Given the description of an element on the screen output the (x, y) to click on. 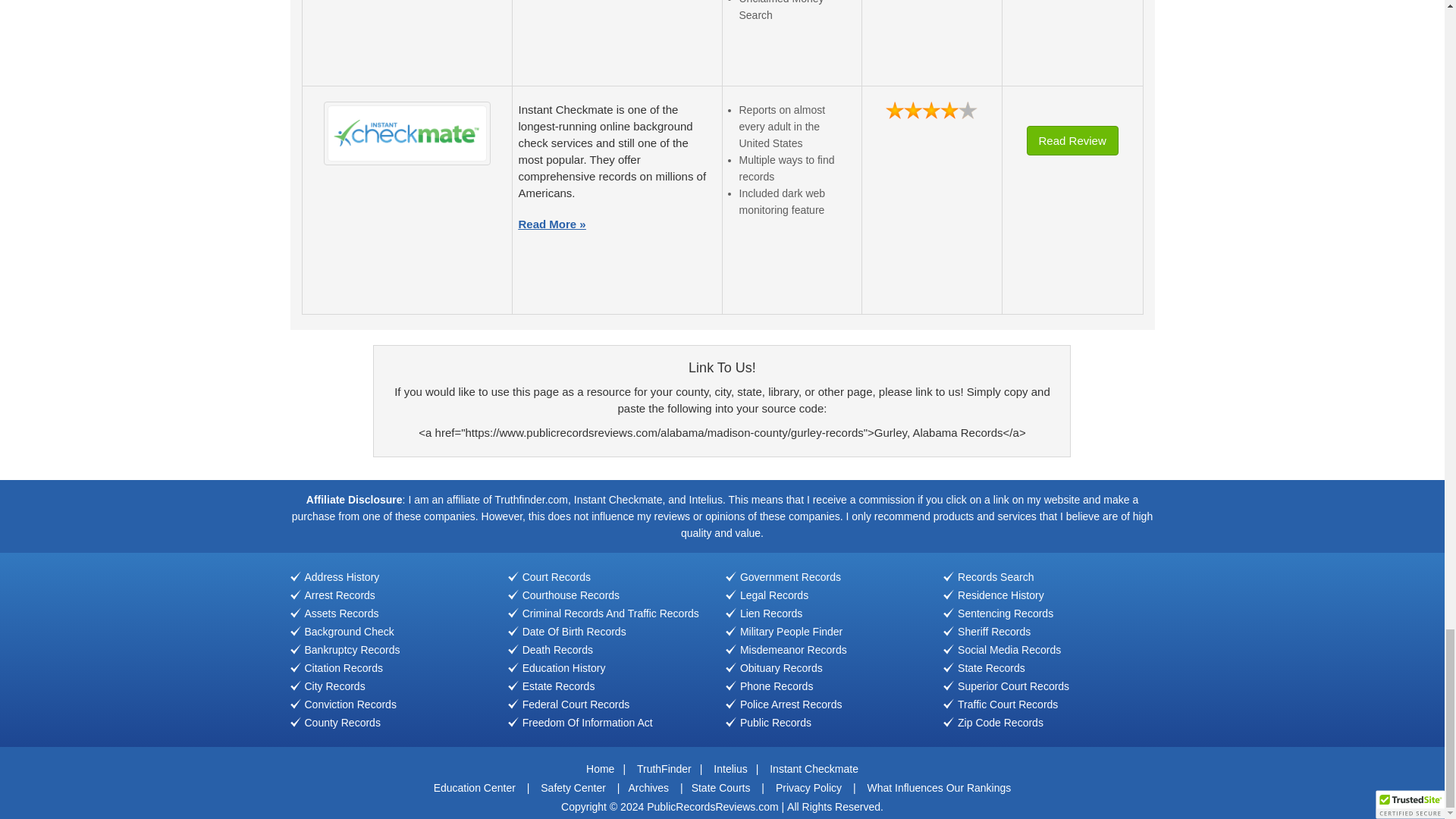
Instant Checkmate (406, 133)
